Given the description of an element on the screen output the (x, y) to click on. 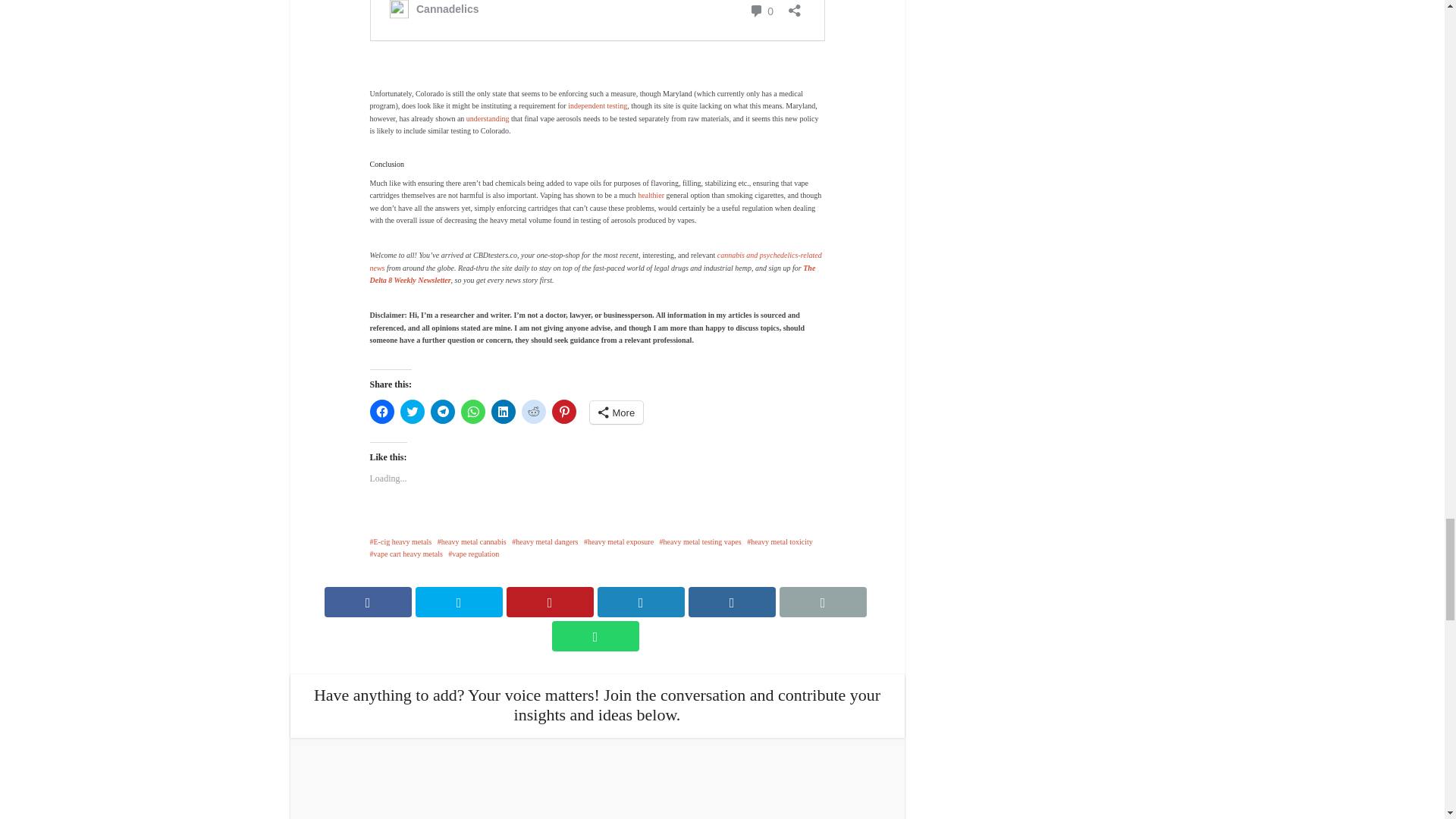
Comment Form (596, 785)
Click to share on Facebook (381, 410)
Click to share on LinkedIn (503, 410)
Click to share on Reddit (533, 410)
Click to share on Twitter (412, 410)
Click to share on Telegram (442, 410)
Click to share on WhatsApp (472, 410)
Click to share on Pinterest (563, 410)
